Given the description of an element on the screen output the (x, y) to click on. 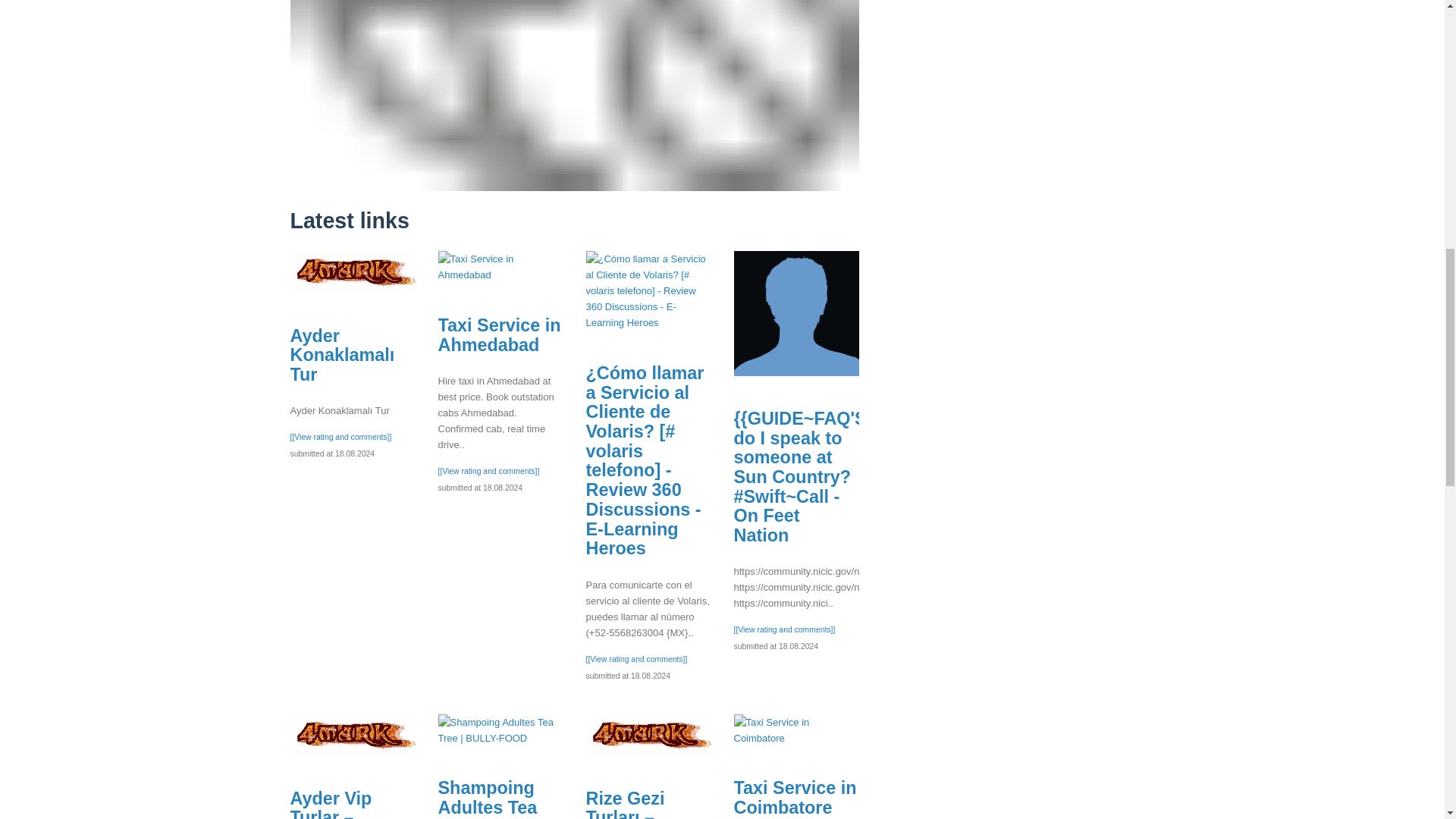
Taxi Service in Coimbatore (795, 797)
Taxi Service in Ahmedabad (500, 266)
Taxi Service in Ahmedabad (499, 334)
Taxi Service in Coimbatore (796, 730)
